Given the description of an element on the screen output the (x, y) to click on. 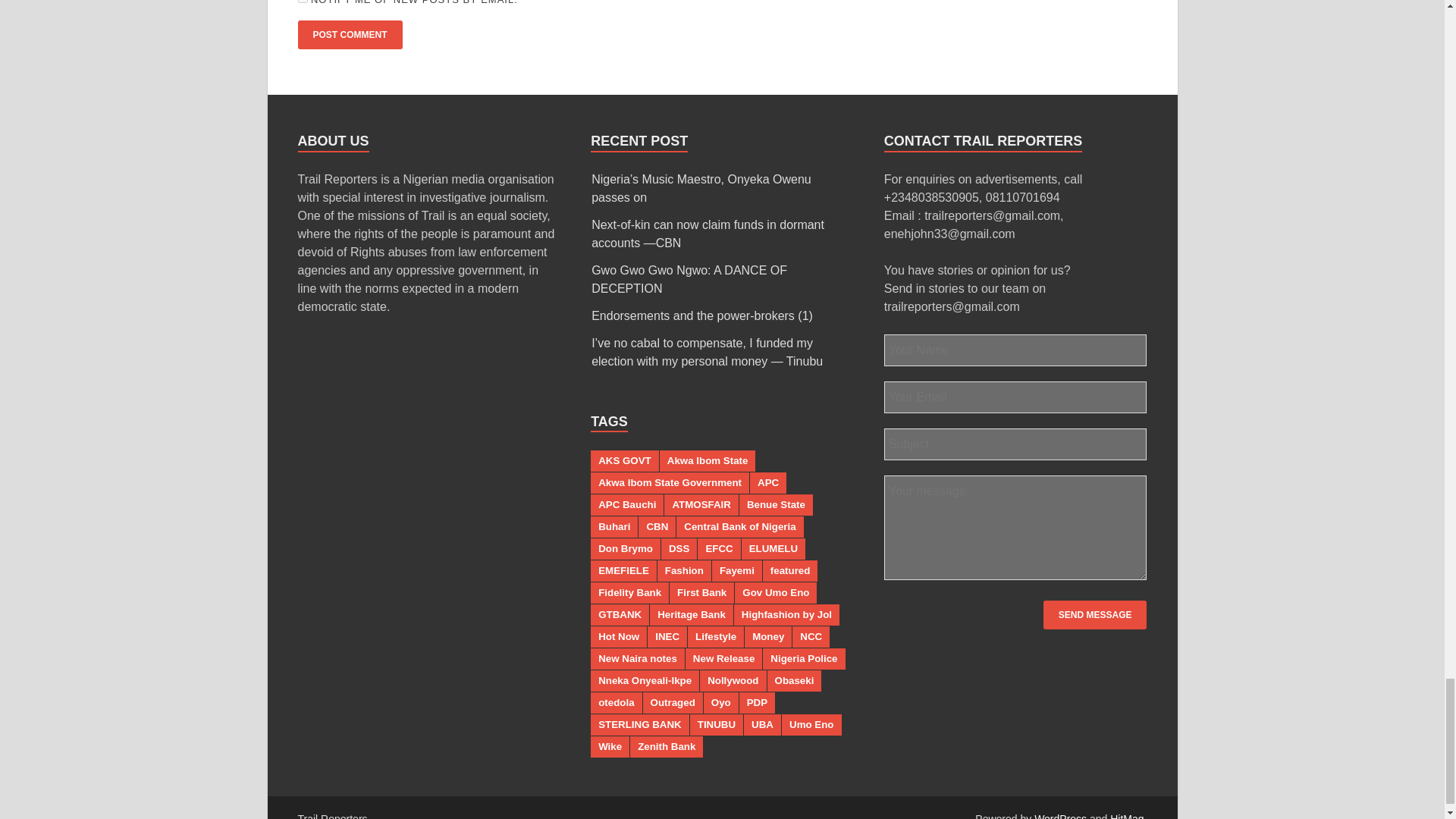
Post Comment (349, 34)
subscribe (302, 1)
